Given the description of an element on the screen output the (x, y) to click on. 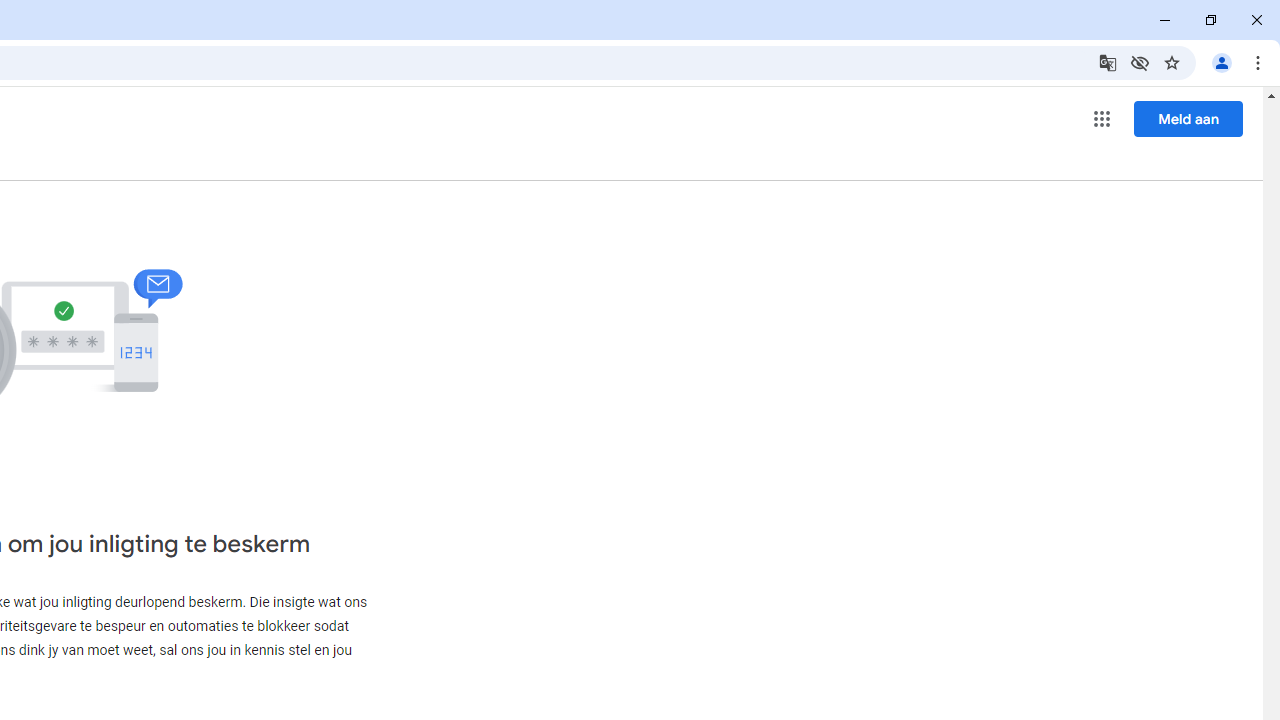
Translate this page (1107, 62)
Meld aan (1188, 118)
Google-programme (1101, 118)
